Given the description of an element on the screen output the (x, y) to click on. 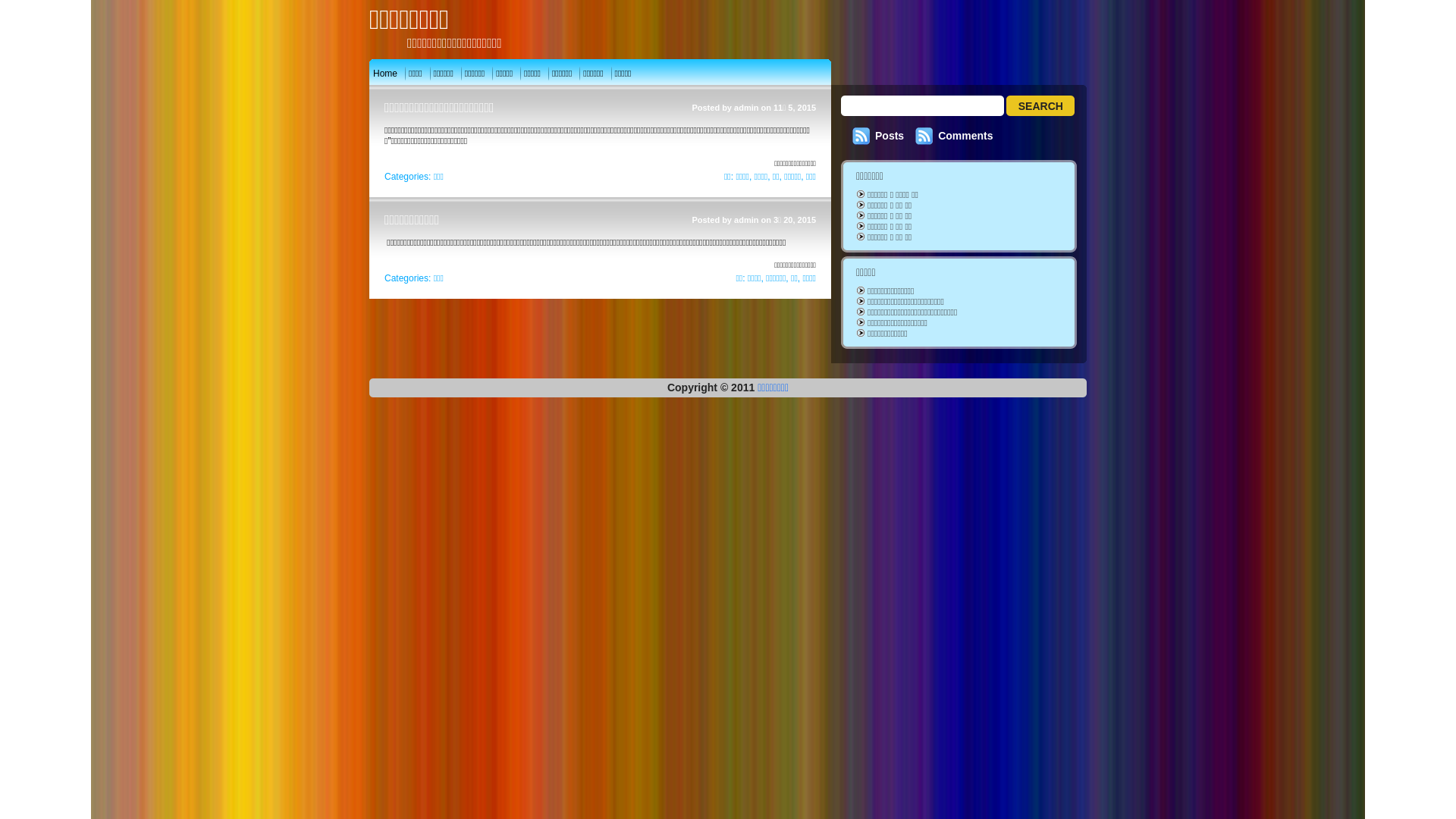
Comments Element type: text (965, 135)
Search Element type: text (1040, 105)
Posts Element type: text (889, 135)
Home Element type: text (385, 73)
